Given the description of an element on the screen output the (x, y) to click on. 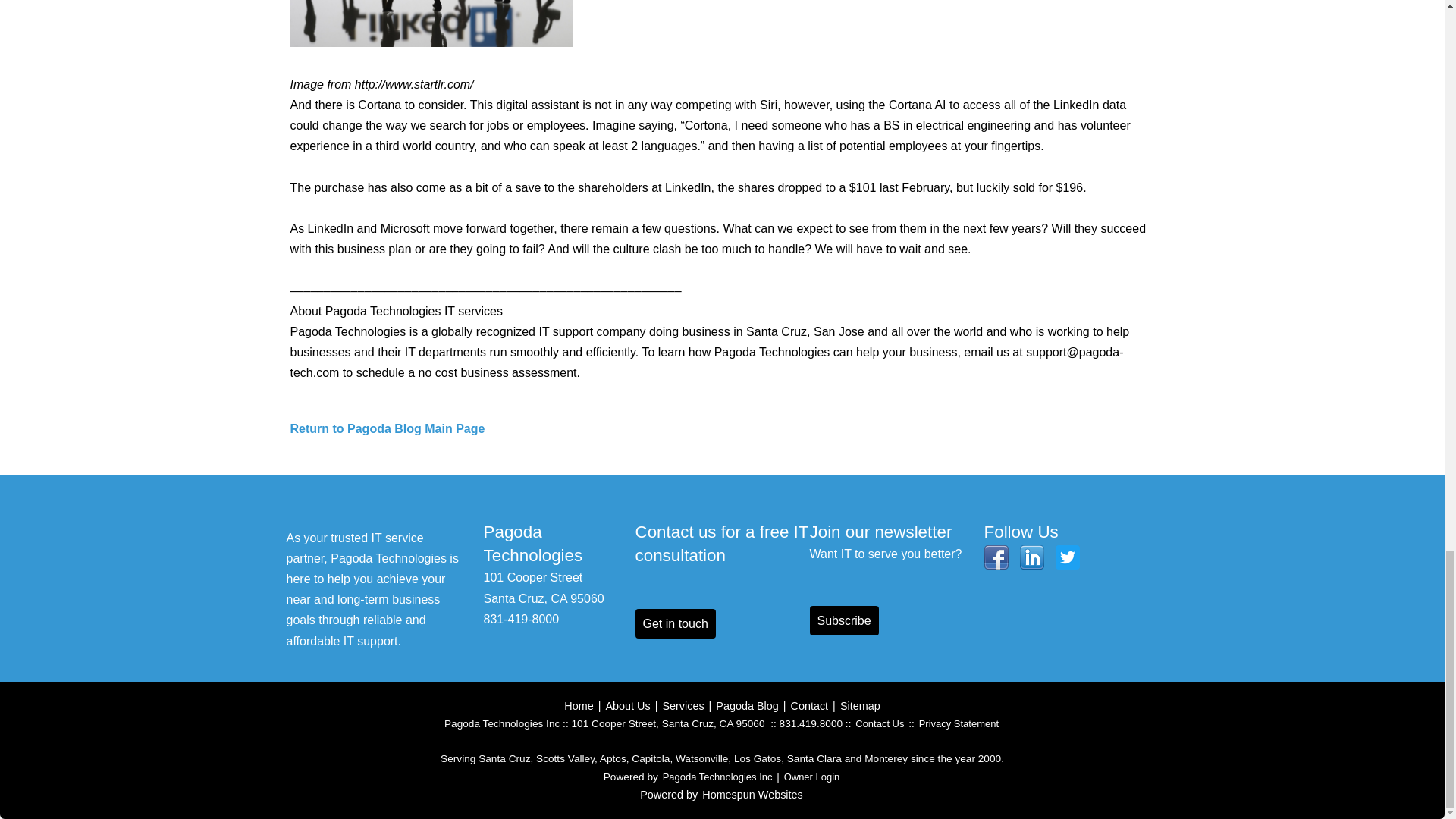
Pagoda Blog (746, 705)
Privacy Statement (958, 723)
Homespun Websites (752, 794)
Pagoda Technologies Inc (717, 776)
Get in touch (675, 623)
Owner Login (812, 776)
Contact Us (879, 723)
About Us (627, 705)
Services (682, 705)
Return to Pagoda Blog Main Page (386, 428)
